Given the description of an element on the screen output the (x, y) to click on. 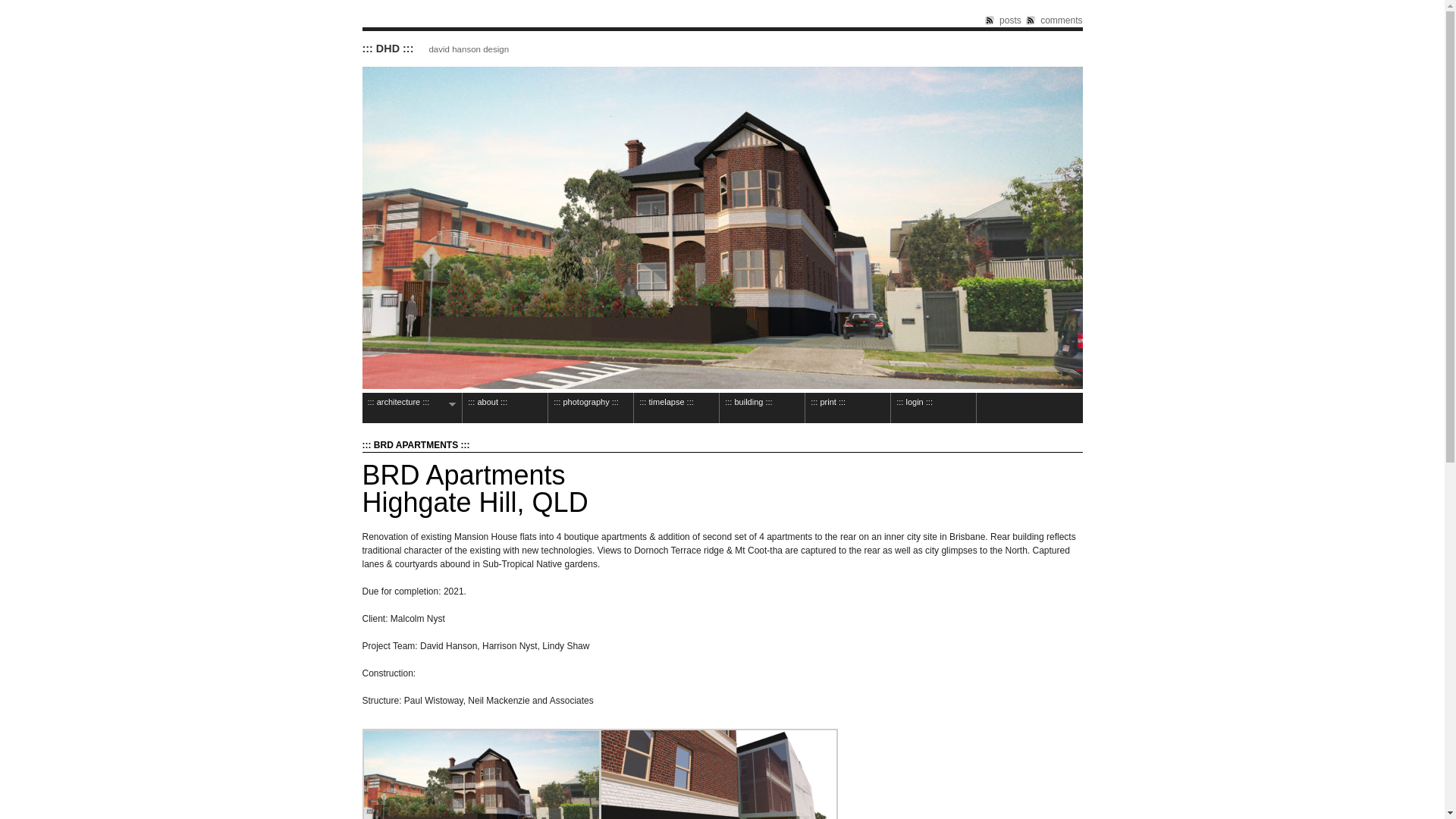
comments Element type: text (1054, 20)
::: login ::: Element type: text (933, 407)
::: photography ::: Element type: text (590, 407)
posts Element type: text (1003, 20)
::: DHD ::: Element type: text (388, 48)
::: about ::: Element type: text (504, 407)
::: timelapse ::: Element type: text (675, 407)
::: print ::: Element type: text (847, 407)
::: building ::: Element type: text (761, 407)
